Given the description of an element on the screen output the (x, y) to click on. 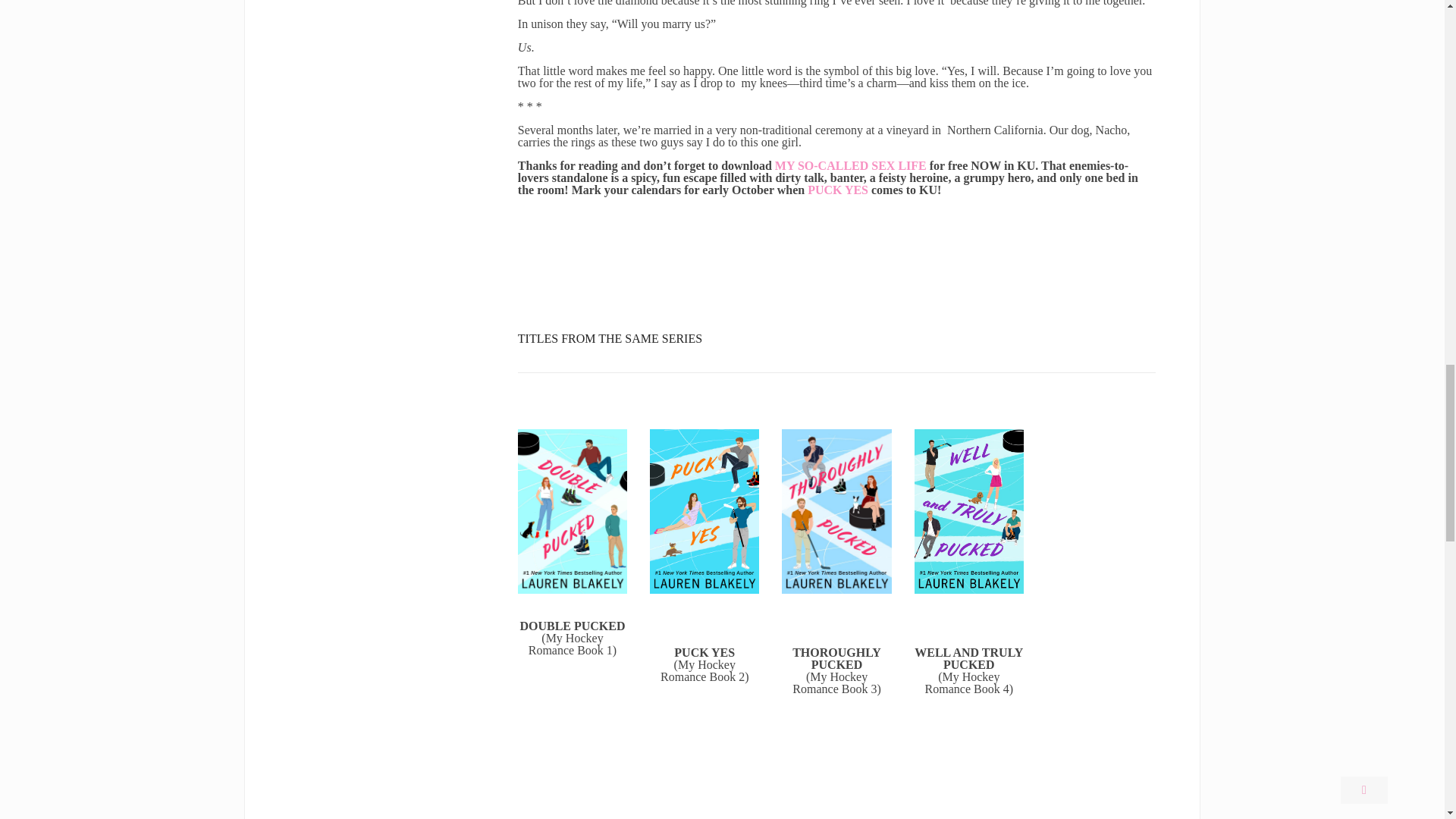
PUCK YES (837, 189)
MY SO-CALLED SEX LIFE (850, 164)
